Given the description of an element on the screen output the (x, y) to click on. 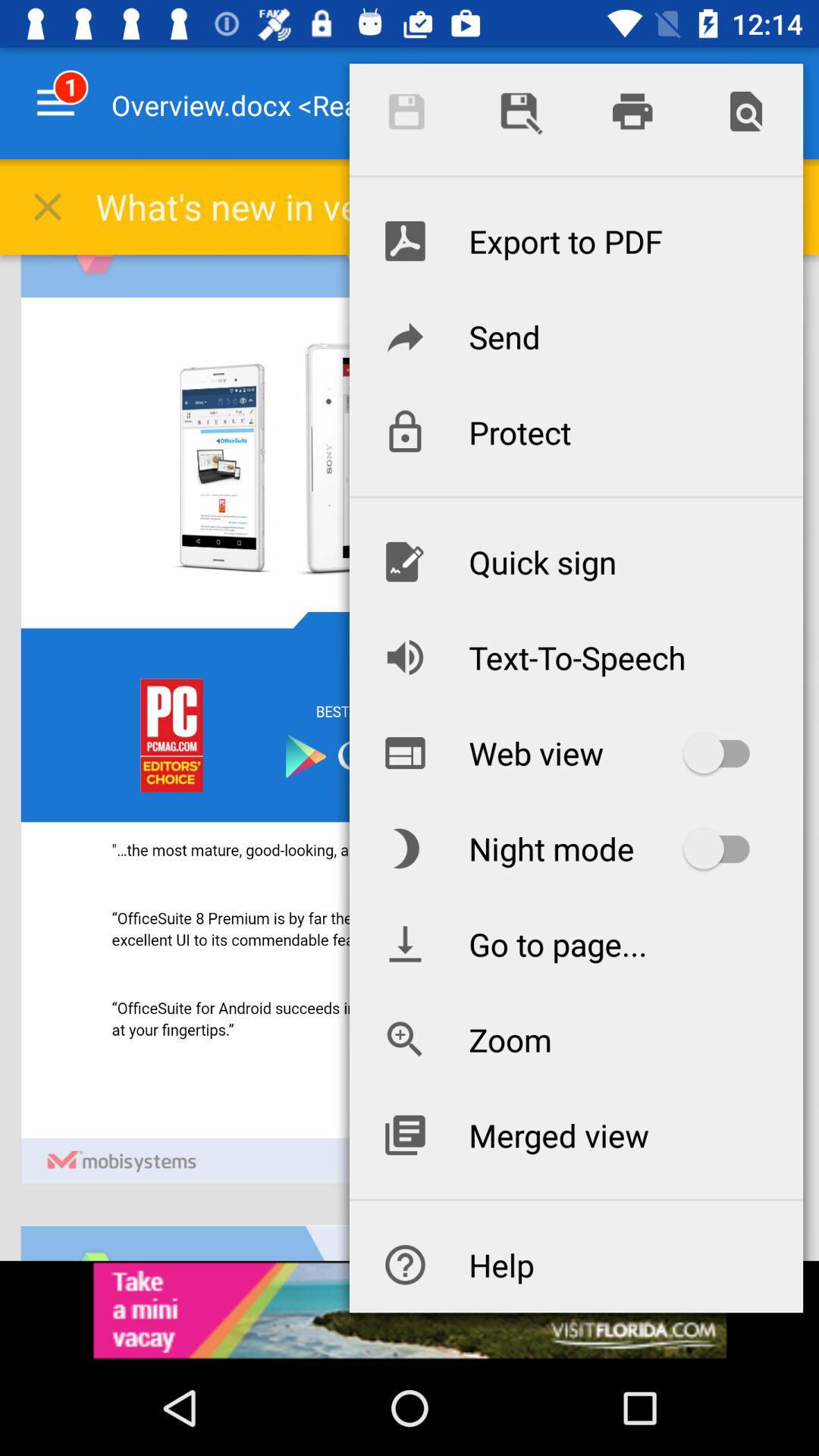
press item below the go to page... icon (576, 1039)
